Given the description of an element on the screen output the (x, y) to click on. 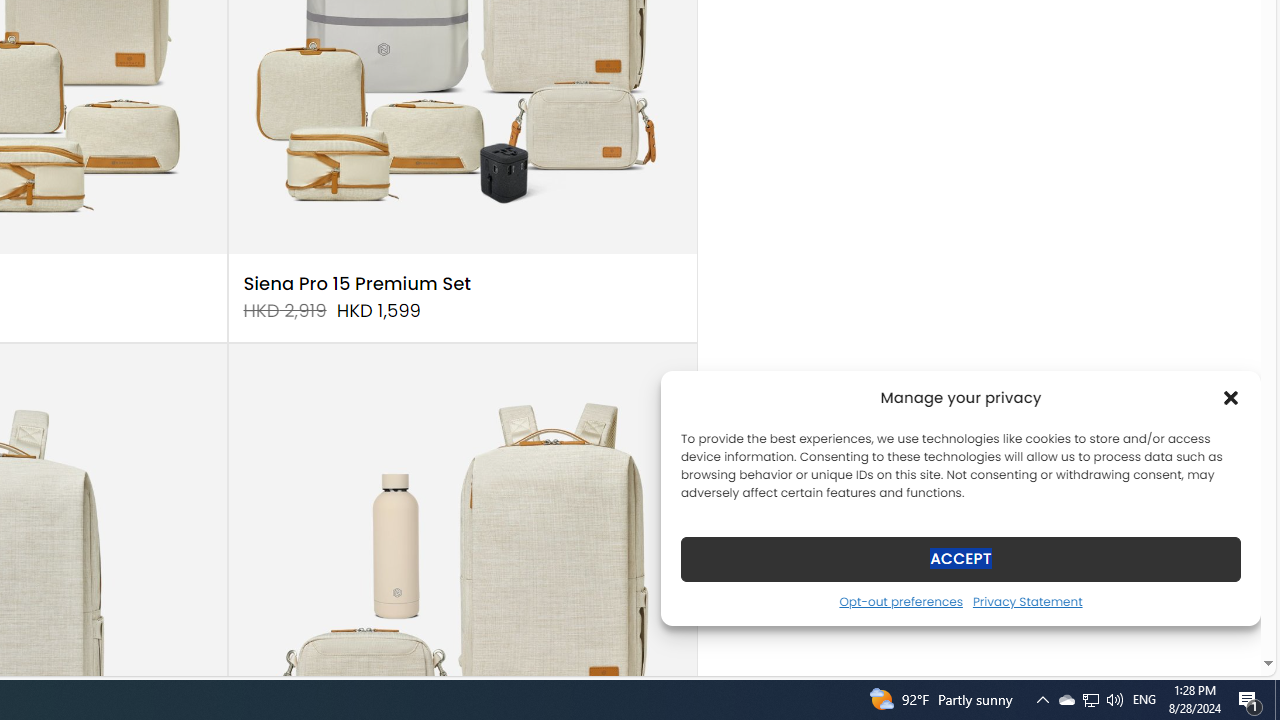
Class: cmplz-close (1231, 397)
Opt-out preferences (900, 601)
Privacy Statement (1026, 601)
ACCEPT (960, 558)
Siena Pro 15 Premium Set (357, 283)
